Given the description of an element on the screen output the (x, y) to click on. 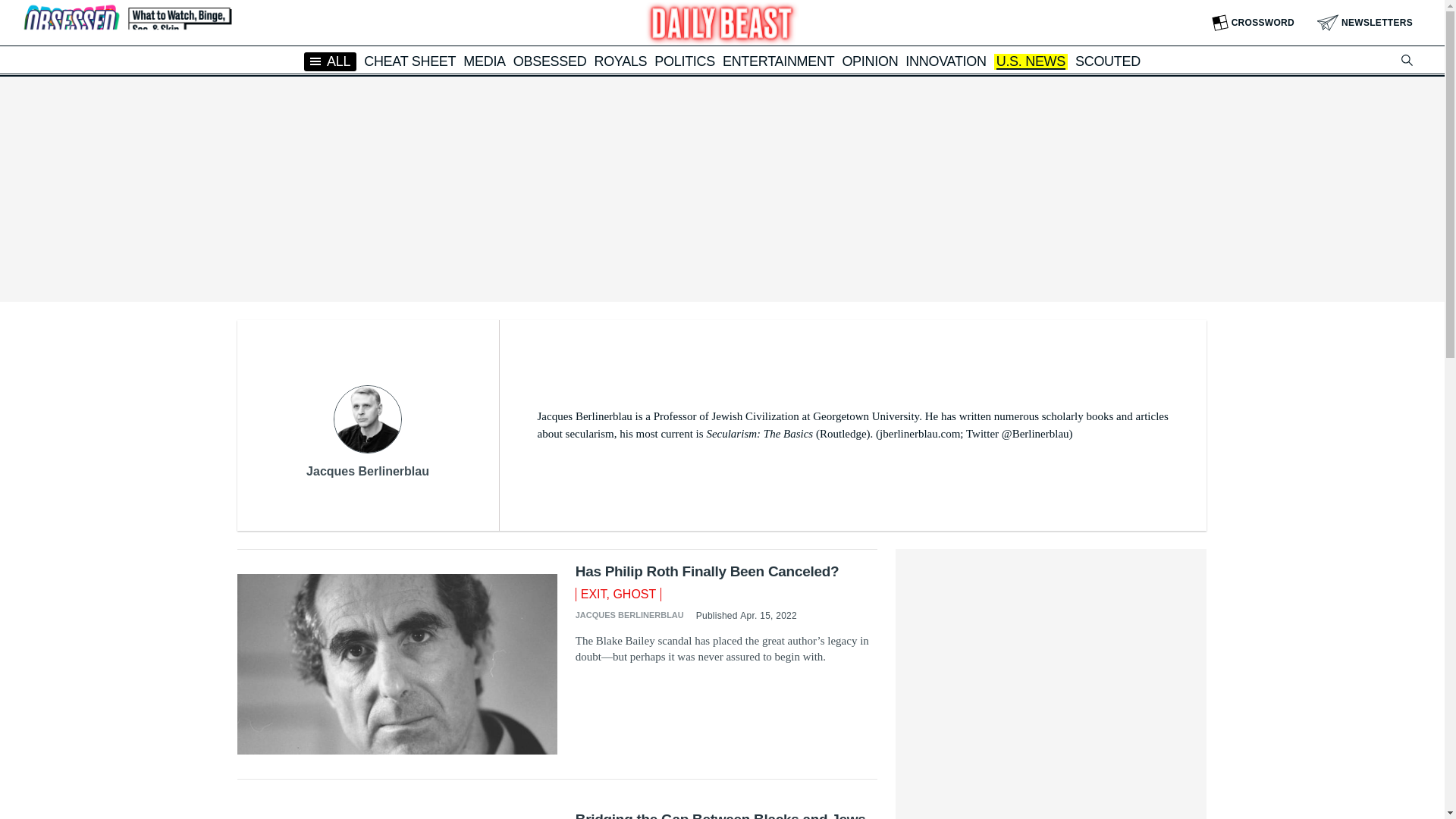
MEDIA (484, 60)
OPINION (869, 60)
U.S. NEWS (1030, 61)
ROYALS (620, 60)
ENTERTAINMENT (778, 60)
SCOUTED (1107, 60)
POLITICS (683, 60)
ALL (330, 60)
NEWSLETTERS (1364, 22)
CROSSWORD (1252, 22)
